Given the description of an element on the screen output the (x, y) to click on. 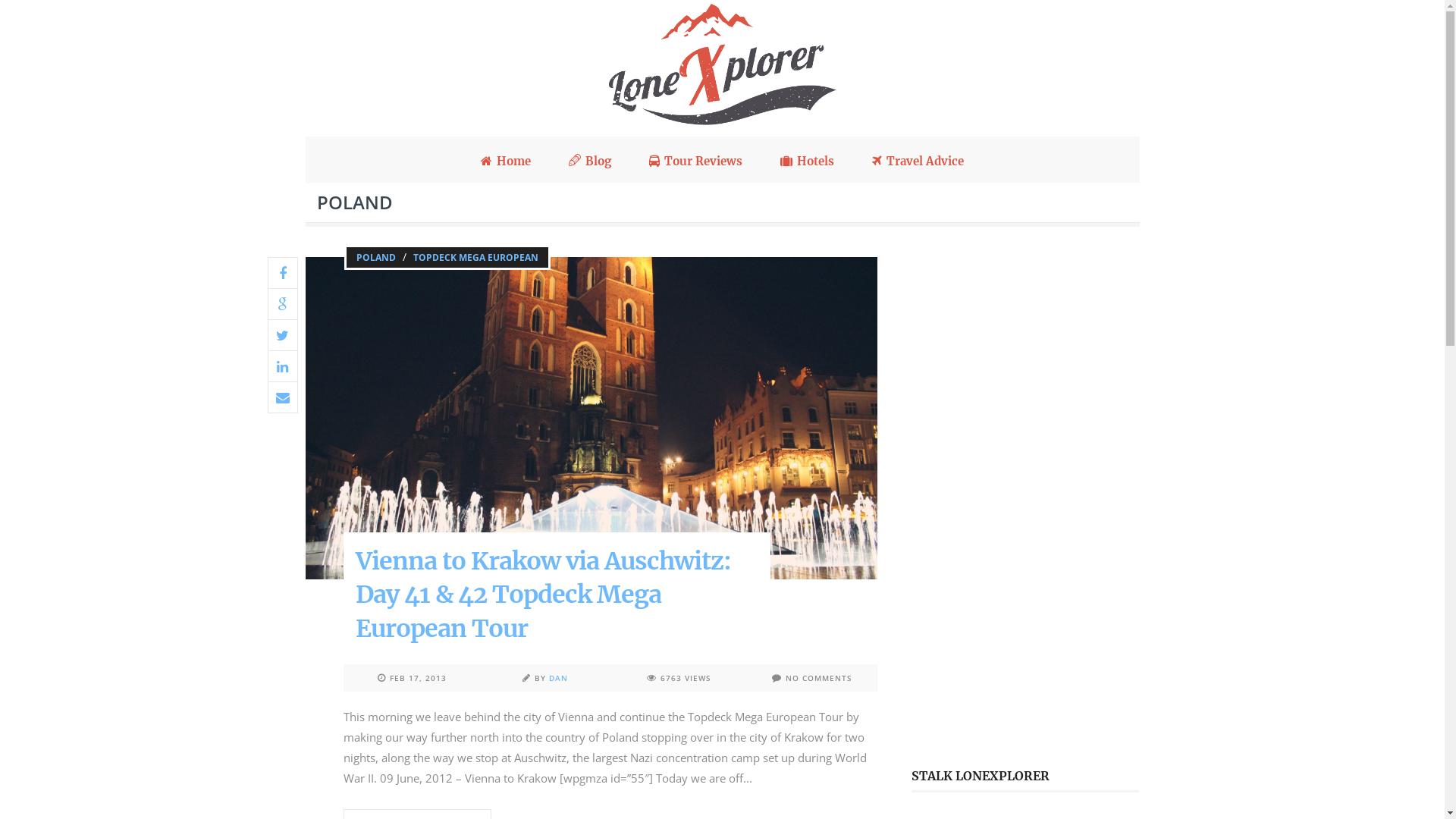
Blog Element type: text (589, 159)
DAN Element type: text (558, 677)
Home Element type: text (505, 159)
Tour Reviews Element type: text (695, 159)
Travel Advice Element type: text (917, 159)
Hotels Element type: text (807, 159)
Advertisement Element type: hover (1025, 499)
TOPDECK MEGA EUROPEAN Element type: text (475, 257)
POLAND Element type: text (374, 257)
